Given the description of an element on the screen output the (x, y) to click on. 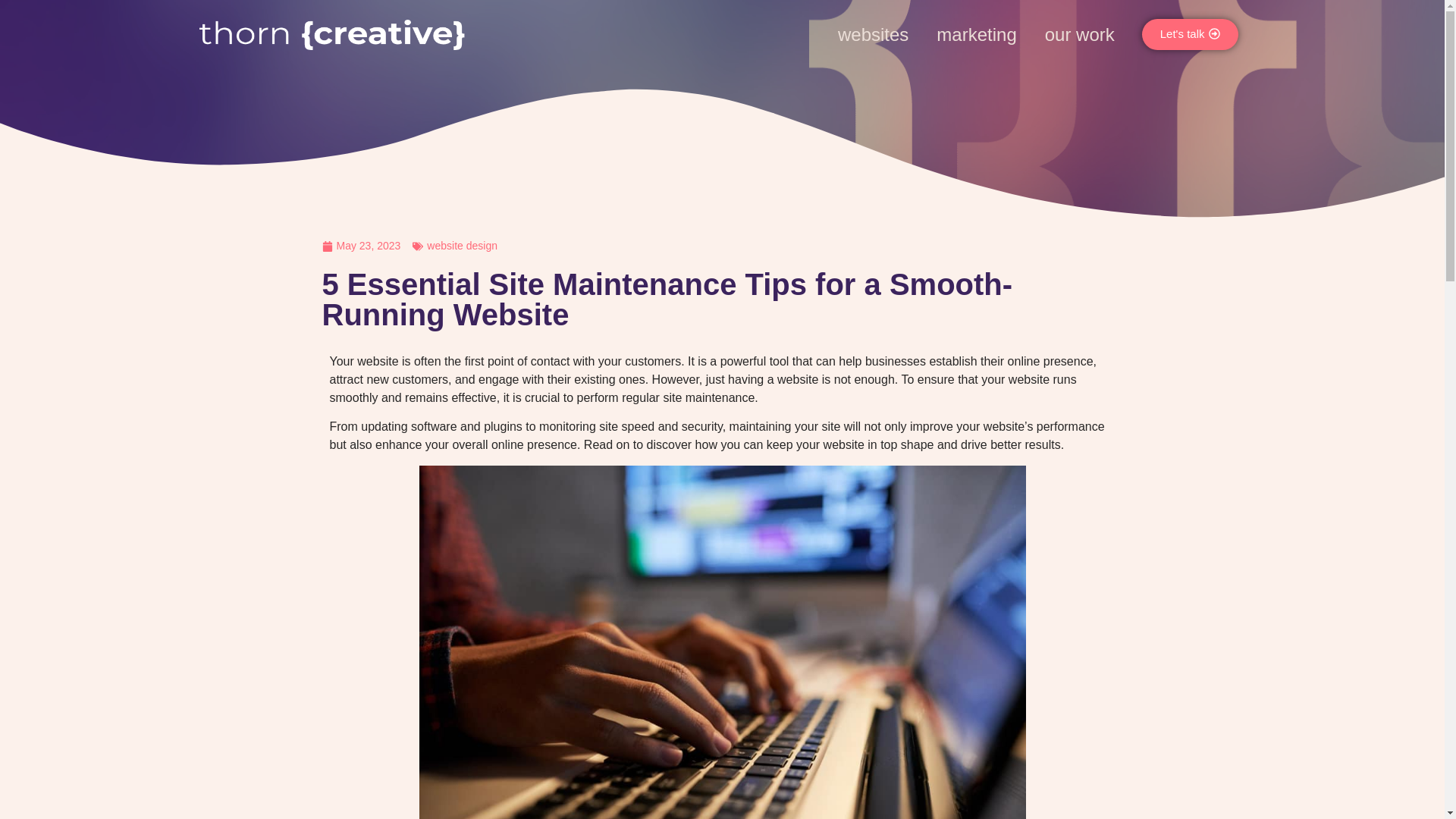
May 23, 2023 (360, 245)
Let's talk (1190, 33)
marketing (976, 34)
websites (873, 34)
our work (1080, 34)
website design (461, 245)
